Given the description of an element on the screen output the (x, y) to click on. 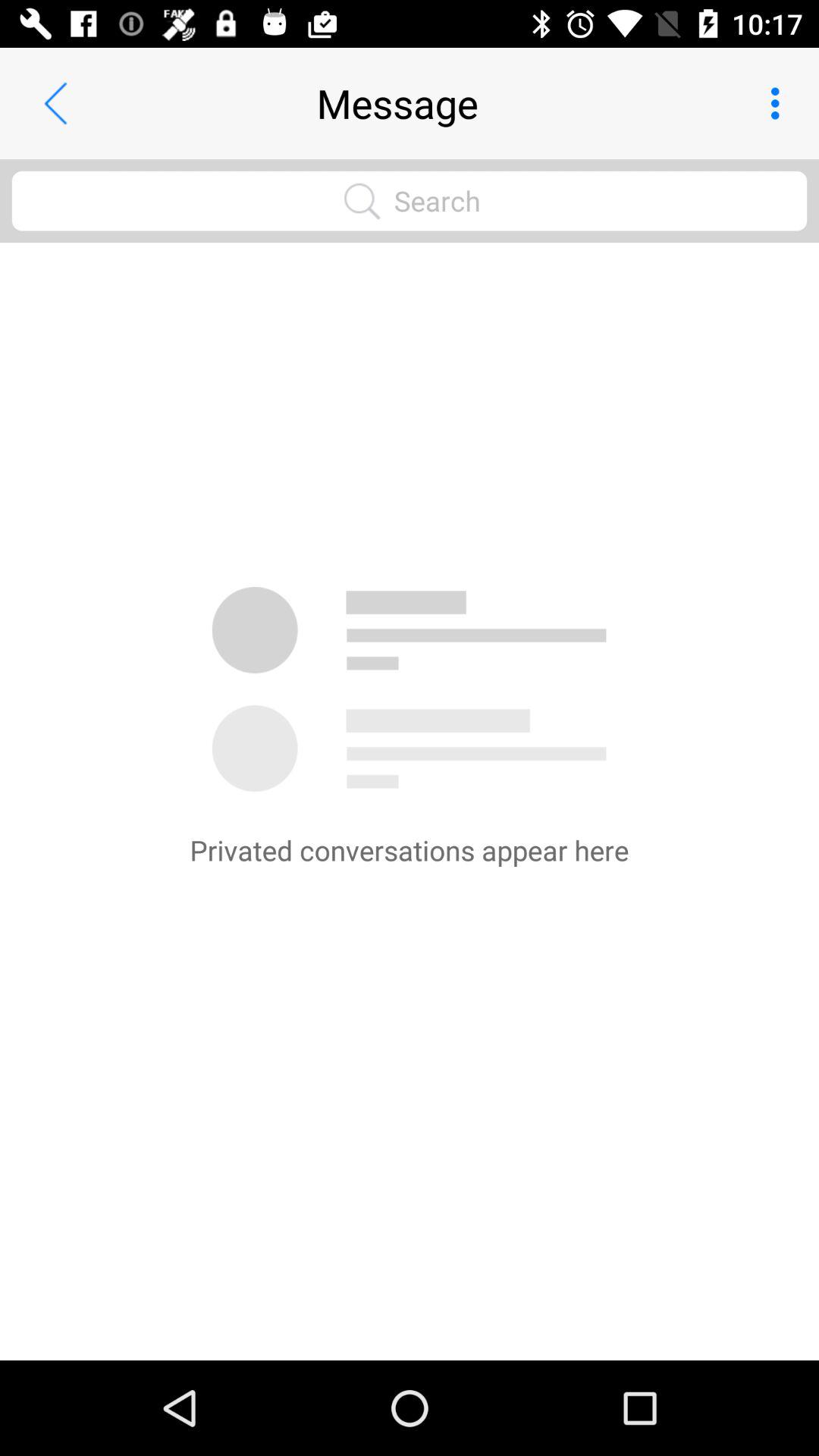
select the icon at the top left corner (55, 103)
